Given the description of an element on the screen output the (x, y) to click on. 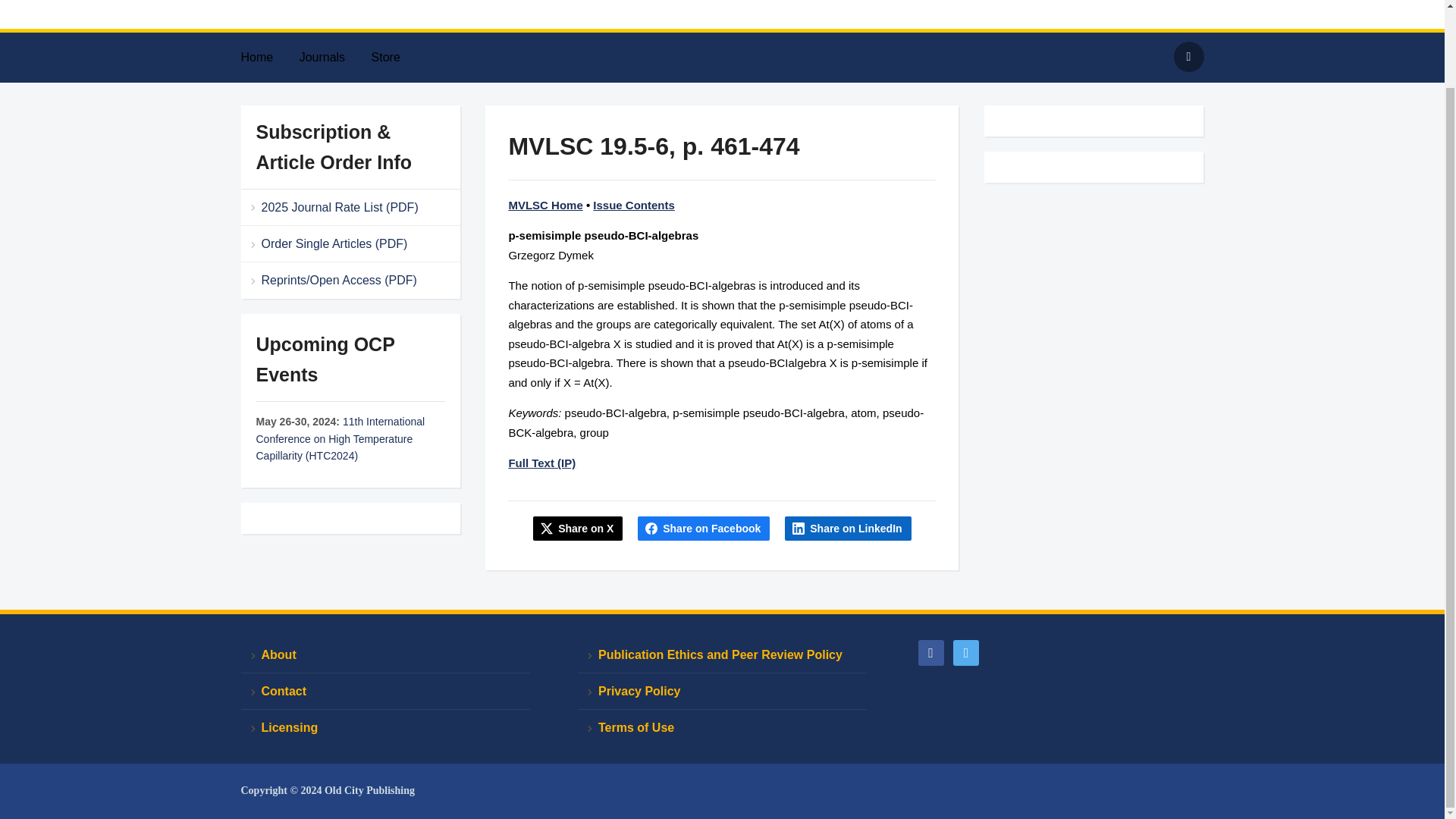
Share on X (577, 528)
Share this on Facebook (703, 528)
twitter (965, 651)
MVLSC Home (545, 205)
About (385, 655)
Share on Facebook (703, 528)
Home (269, 57)
Terms of Use (722, 727)
Share on LinkedIn (847, 528)
Share this on X (577, 528)
